Given the description of an element on the screen output the (x, y) to click on. 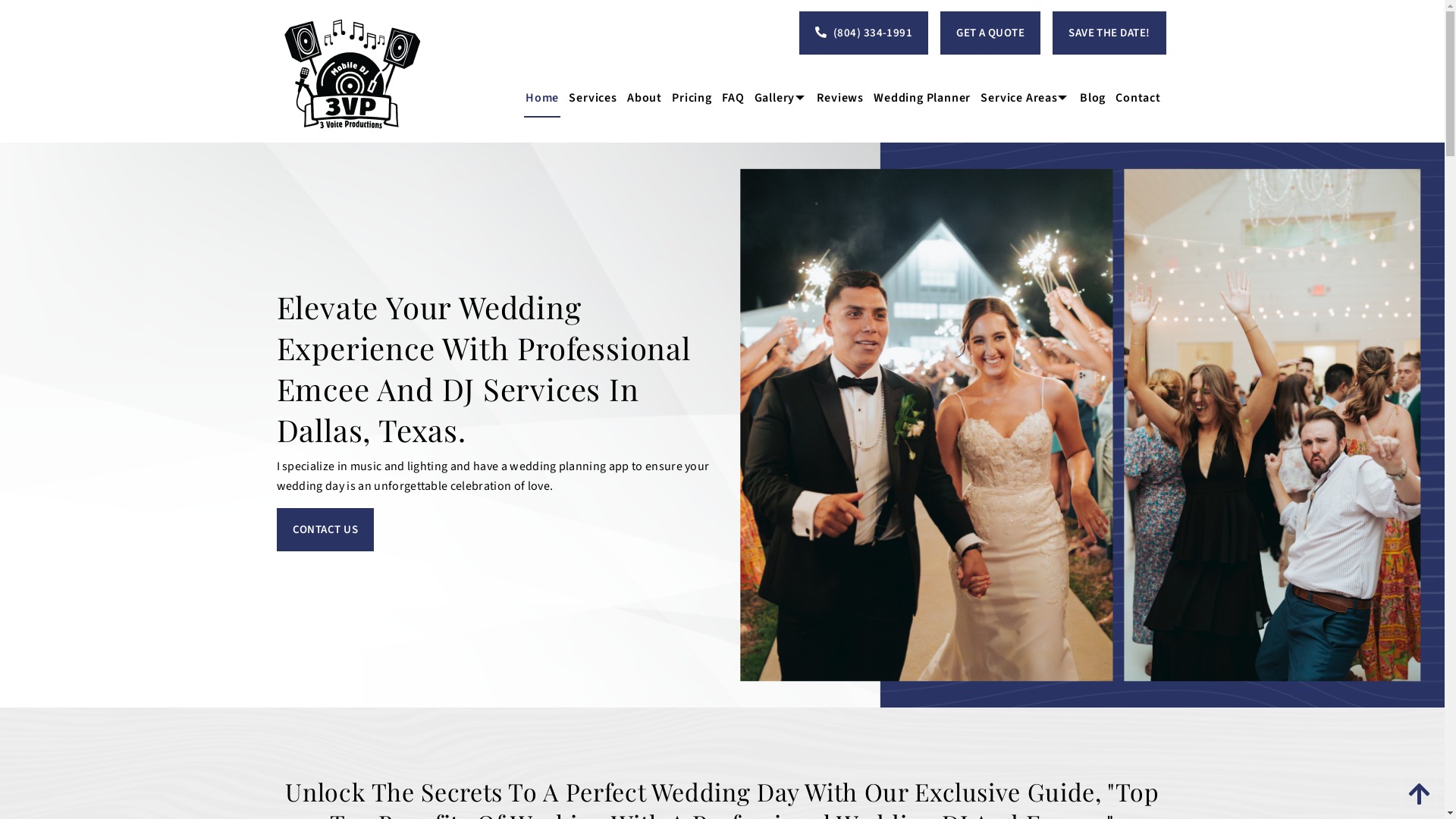
GET A QUOTE Element type: text (990, 32)
Service Areas Element type: text (1025, 98)
Home Element type: text (541, 98)
Pricing Element type: text (692, 98)
Services Element type: text (592, 98)
About Element type: text (643, 98)
FAQ Element type: text (732, 98)
Contact Element type: text (1138, 98)
(804) 334-1991 Element type: text (863, 32)
SAVE THE DATE! Element type: text (1108, 32)
CONTACT US Element type: text (324, 529)
Wedding Planner Element type: text (922, 98)
Gallery Element type: text (780, 98)
Reviews Element type: text (840, 98)
Blog Element type: text (1092, 98)
